Given the description of an element on the screen output the (x, y) to click on. 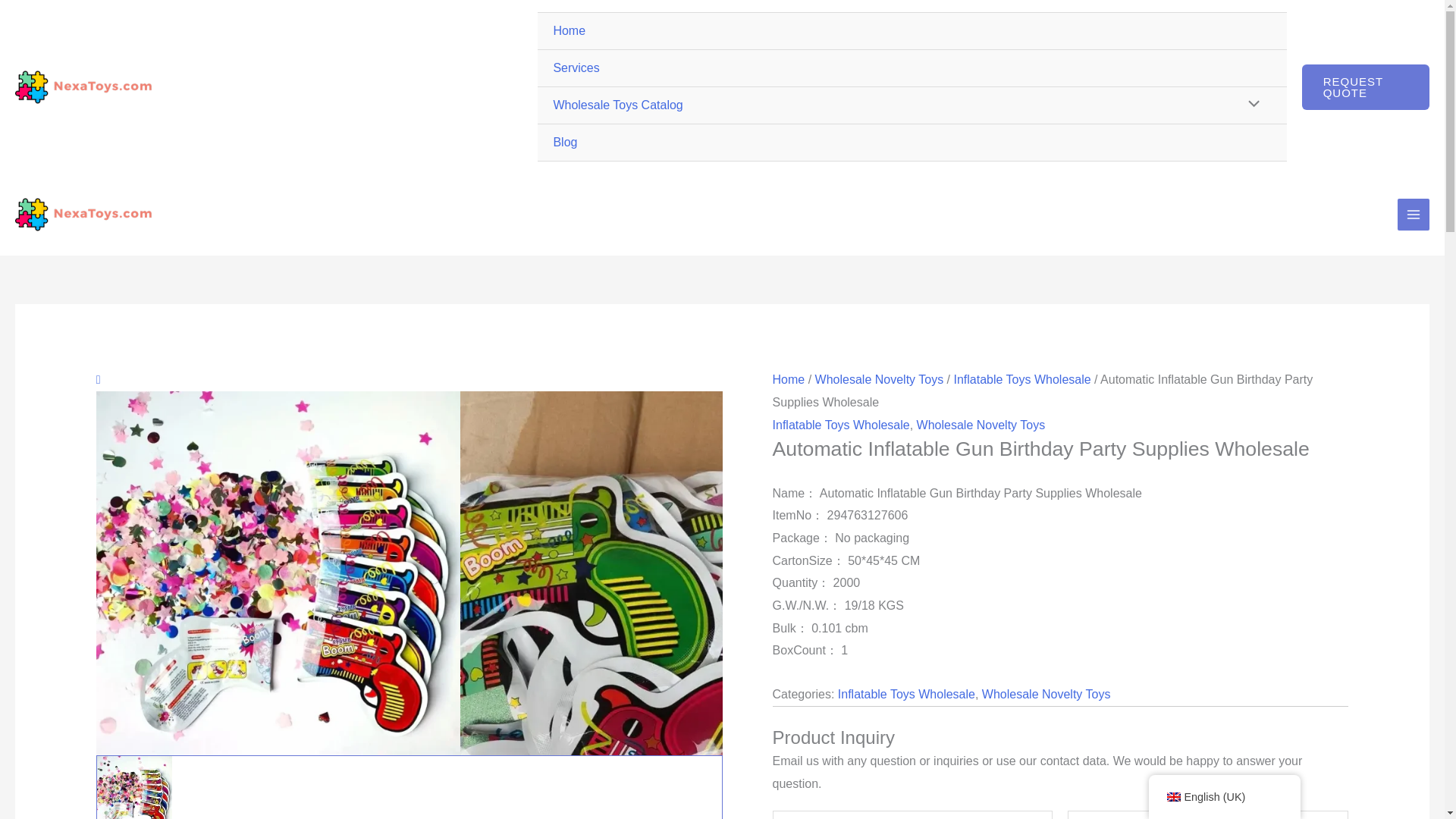
Home (911, 31)
Services (911, 67)
Menu Toggle (1249, 105)
Wholesale Toys Catalog (911, 105)
